Given the description of an element on the screen output the (x, y) to click on. 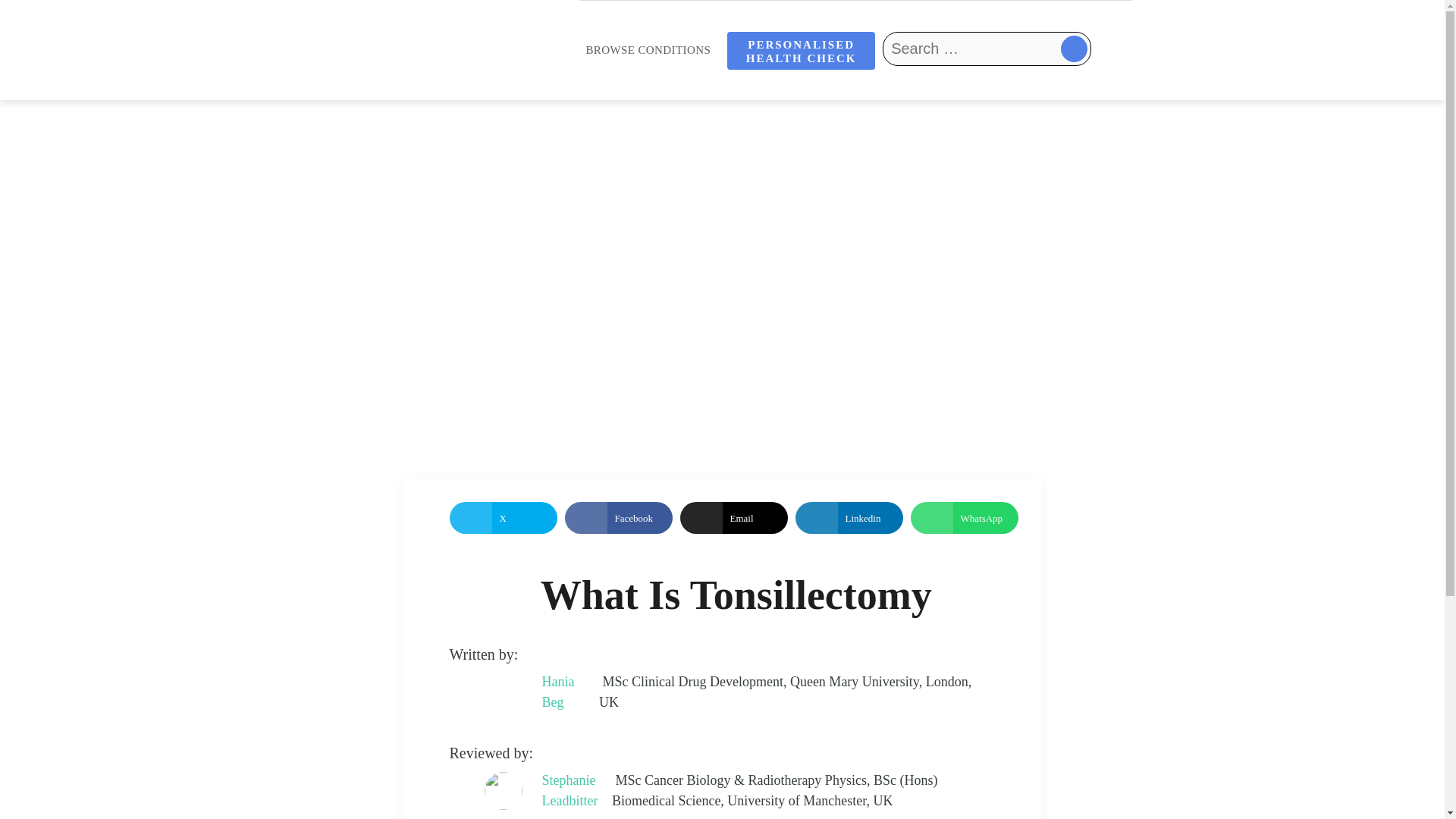
Search (921, 82)
WhatsApp (963, 517)
Stephanie Leadbitter (576, 790)
Search (921, 82)
Hania Beg (569, 691)
Search (921, 82)
X (502, 517)
PERSONALISED HEALTH CHECK (800, 50)
Facebook (617, 517)
BROWSE CONDITIONS (647, 49)
Email (733, 517)
Linkedin (848, 517)
